Given the description of an element on the screen output the (x, y) to click on. 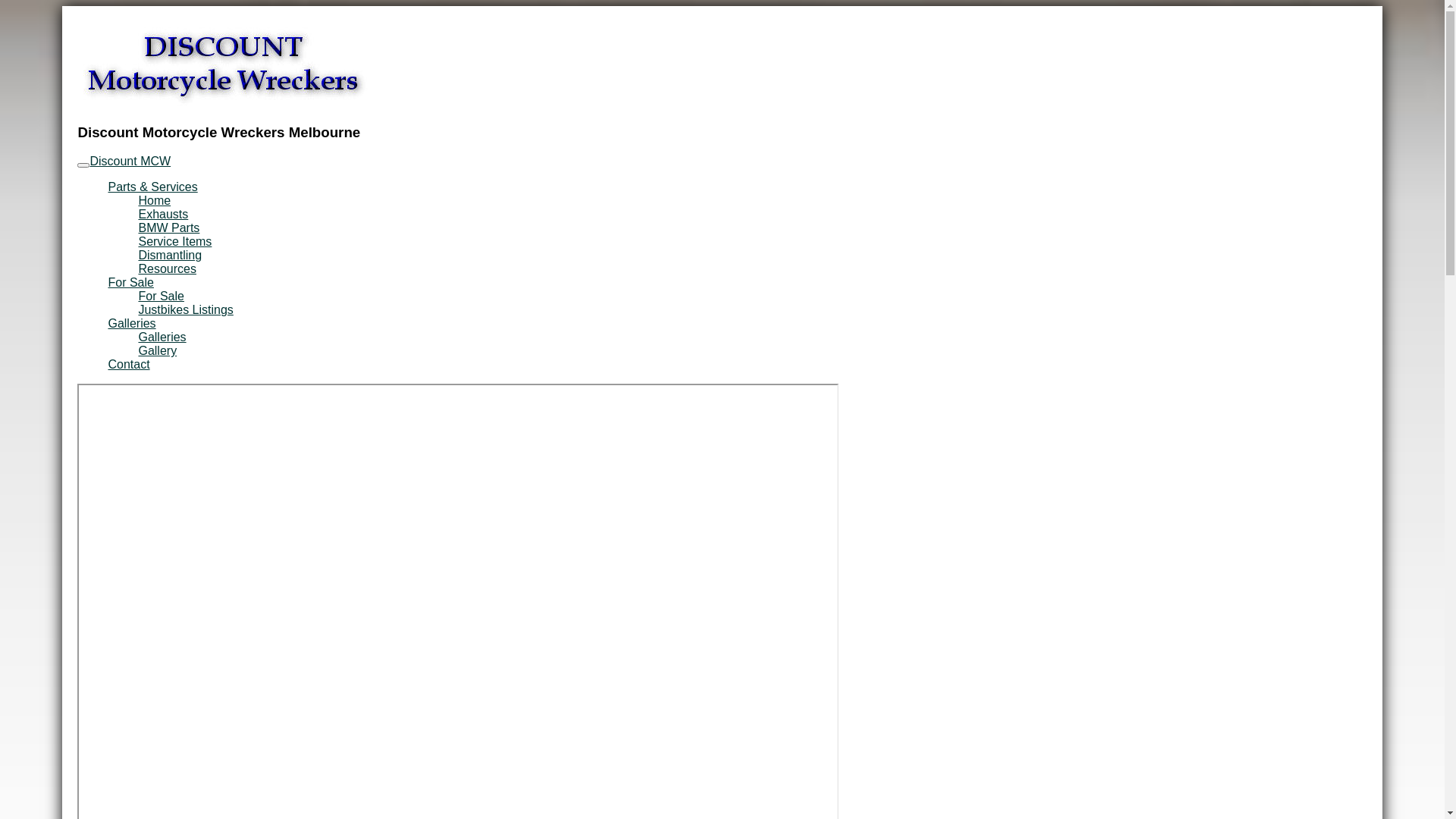
Galleries Element type: text (131, 322)
Galleries Element type: text (161, 336)
Exhausts Element type: text (163, 213)
For Sale Element type: text (160, 295)
Home Element type: text (154, 200)
Service Items Element type: text (174, 241)
BMW Parts Element type: text (168, 227)
Parts & Services Element type: text (152, 186)
Dismantling Element type: text (169, 254)
Resources Element type: text (166, 268)
Contact Element type: text (128, 363)
For Sale Element type: text (130, 282)
Discount MCW Element type: text (129, 160)
Justbikes Listings Element type: text (185, 309)
Gallery Element type: text (157, 350)
